Given the description of an element on the screen output the (x, y) to click on. 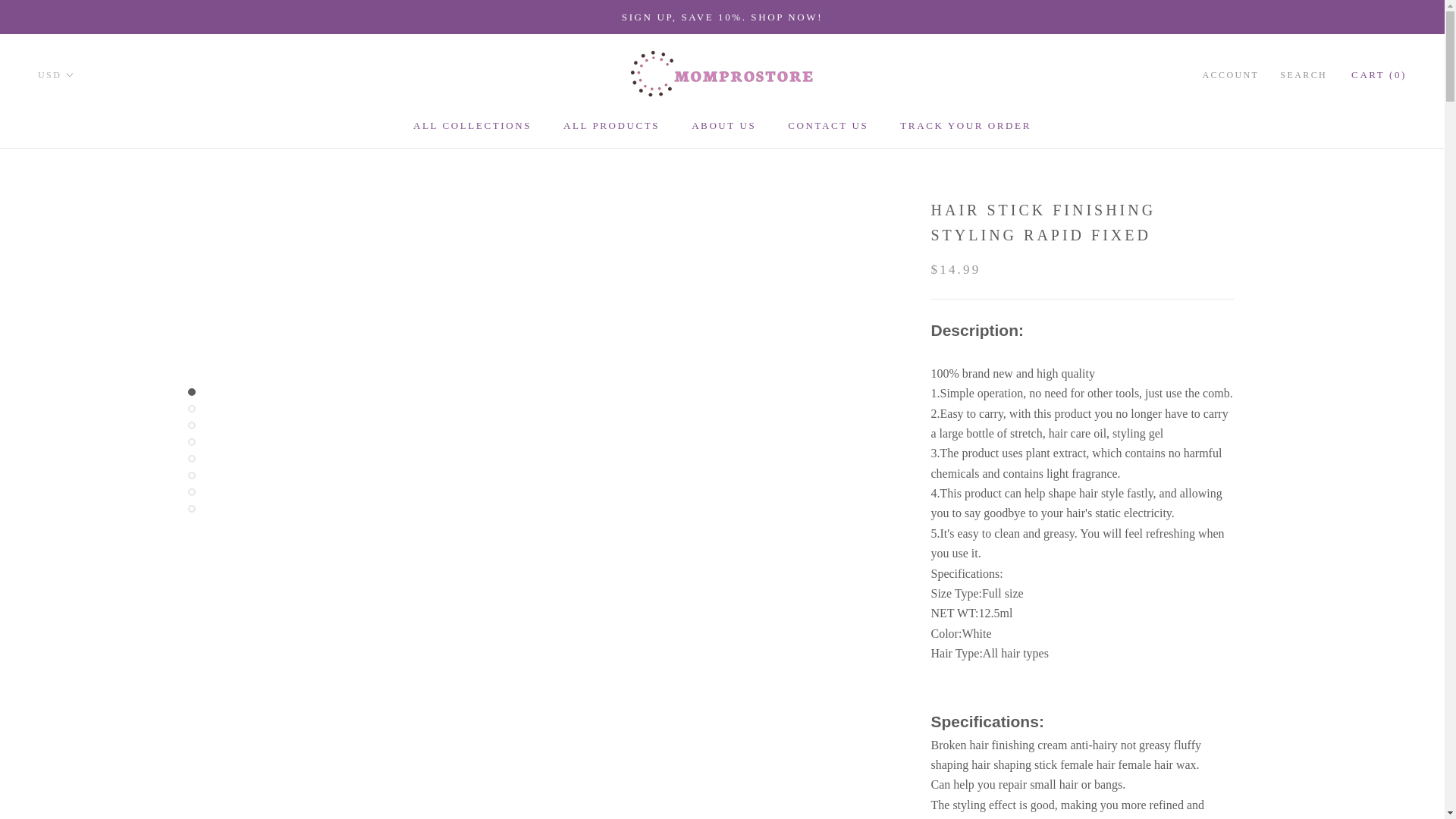
Currency selector (611, 125)
ALL COLLECTIONS (55, 74)
